Given the description of an element on the screen output the (x, y) to click on. 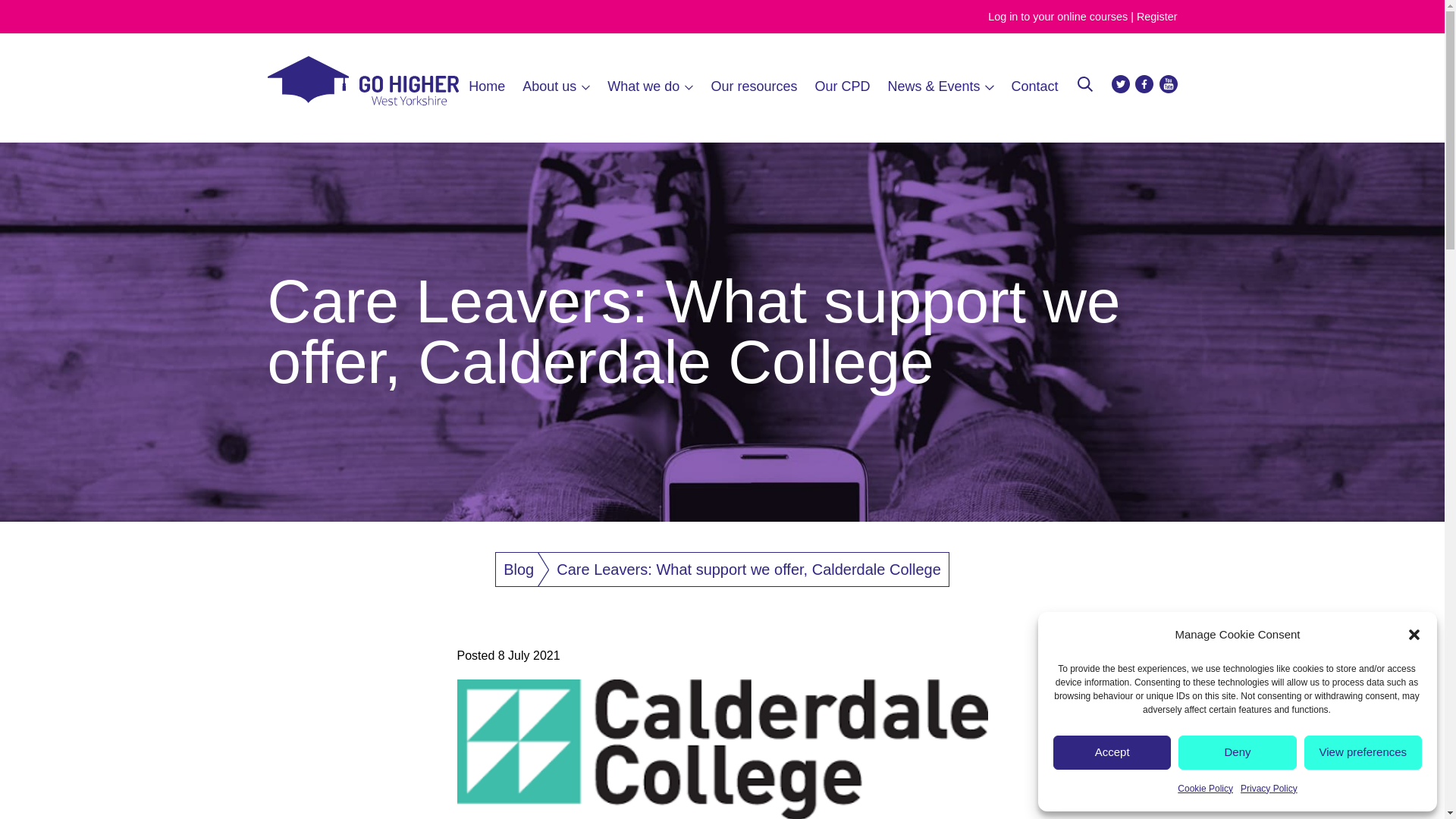
Register (1157, 16)
Privacy Policy (1268, 788)
Deny (1236, 752)
Accept (1111, 752)
Home (486, 86)
About us (555, 86)
Contact (1034, 86)
Our resources (753, 86)
What we do (650, 86)
Our CPD (841, 86)
Cookie Policy (1205, 788)
View preferences (1363, 752)
Log in to your online courses (1057, 16)
Go to News. (518, 569)
Go Higher West Yorkshire (362, 101)
